Given the description of an element on the screen output the (x, y) to click on. 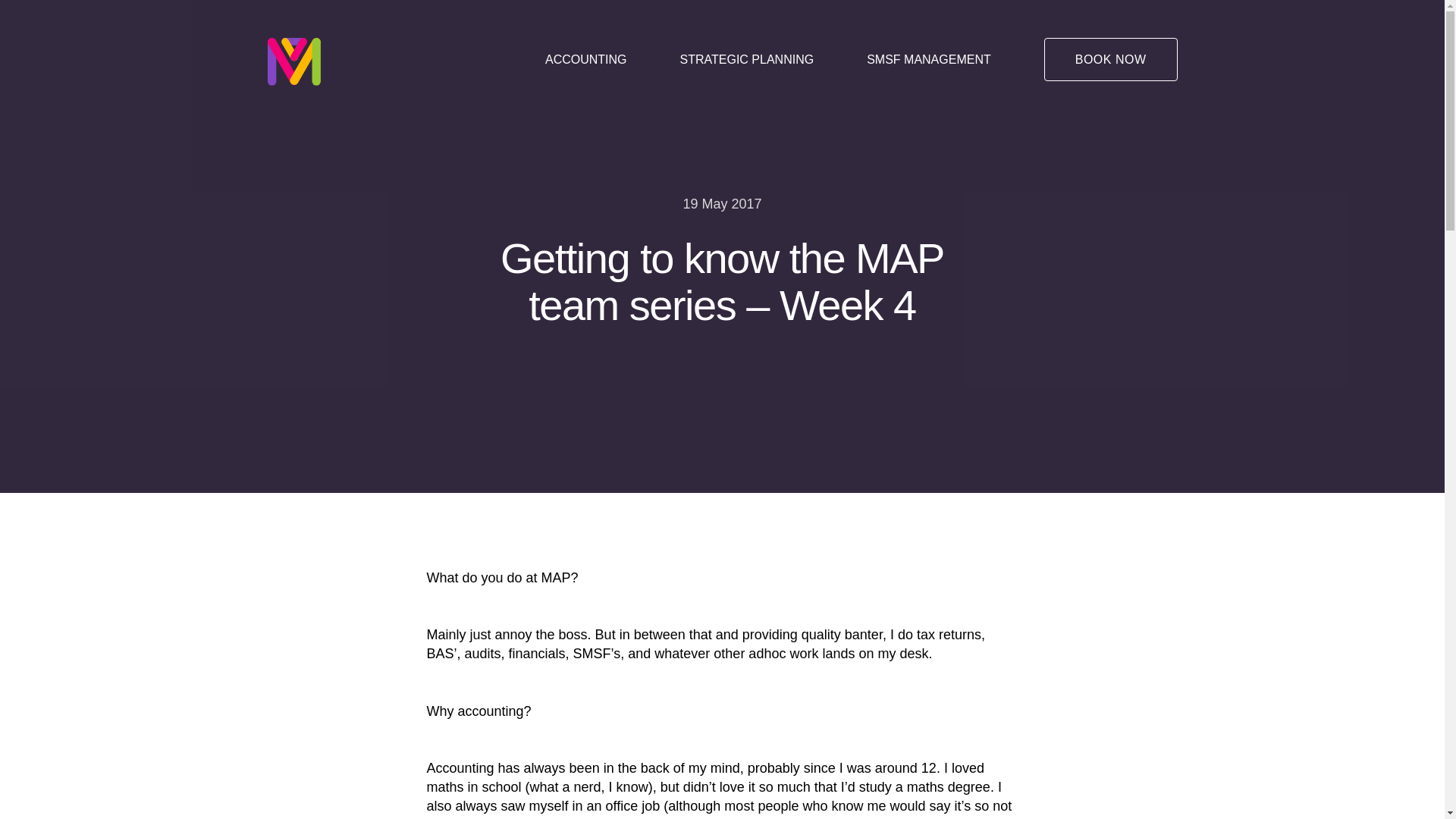
BOOK NOW Element type: text (1110, 59)
STRATEGIC PLANNING Element type: text (747, 59)
ACCOUNTING Element type: text (586, 59)
SMSF MANAGEMENT Element type: text (928, 59)
